Given the description of an element on the screen output the (x, y) to click on. 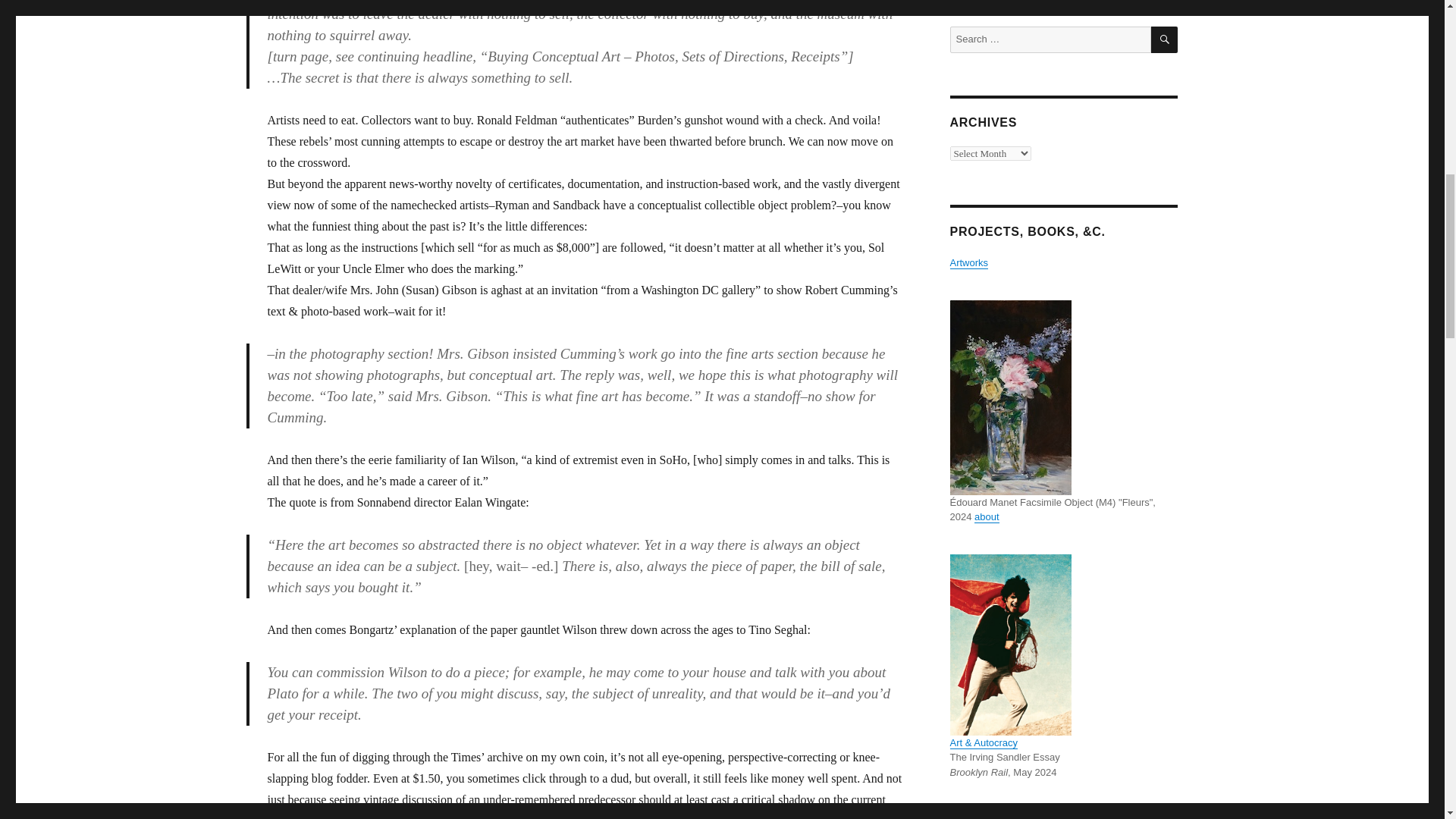
Artworks (968, 262)
about (986, 516)
SEARCH (1164, 39)
